Given the description of an element on the screen output the (x, y) to click on. 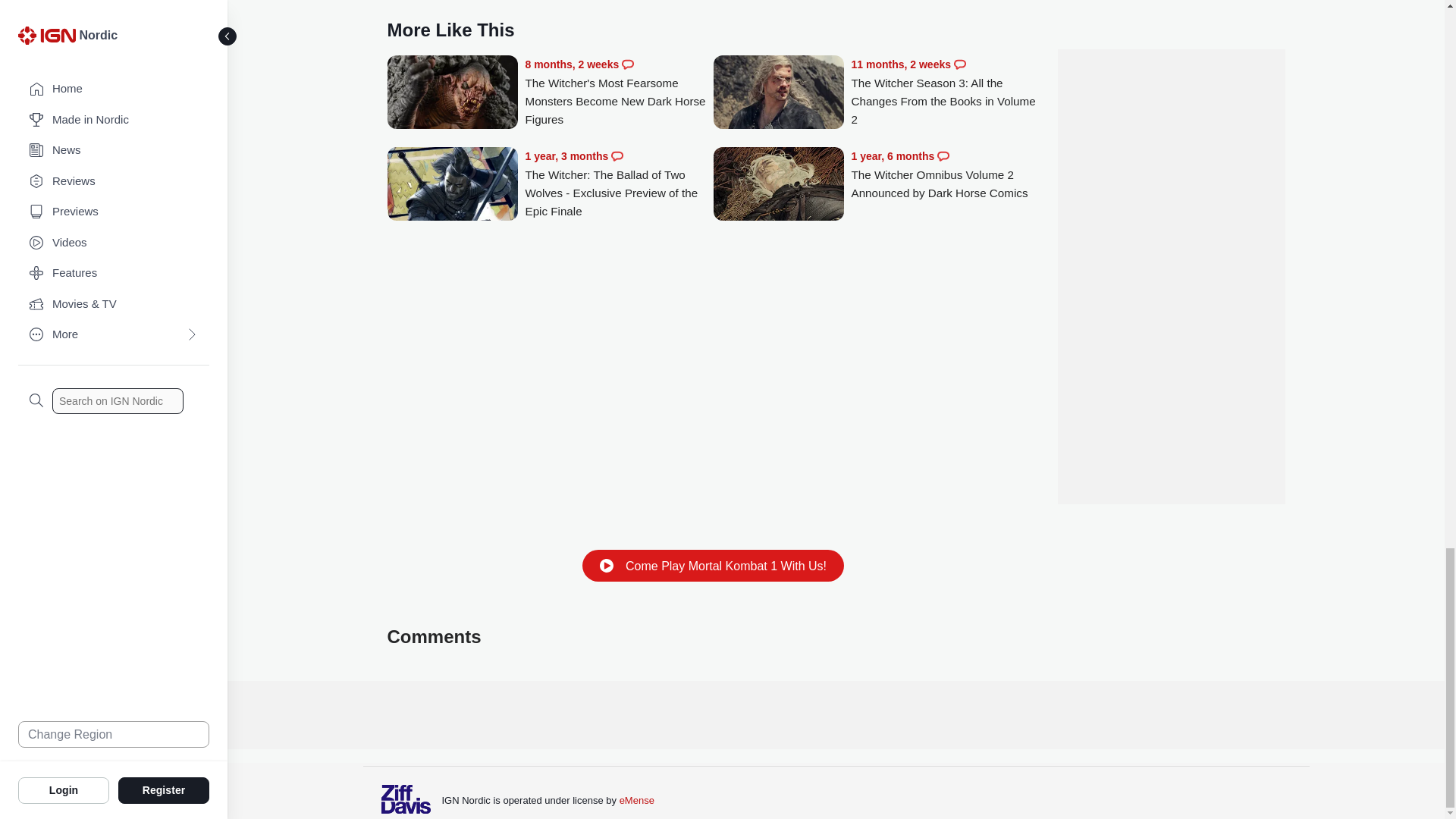
3rd party ad content (835, 714)
Comments (959, 64)
Comments (943, 155)
The Witcher Omnibus Volume 2 Announced by Dark Horse Comics (944, 174)
Comments (627, 64)
Comments (617, 155)
The Witcher Omnibus Volume 2 Announced by Dark Horse Comics (778, 185)
3rd party ad content (1170, 258)
